Given the description of an element on the screen output the (x, y) to click on. 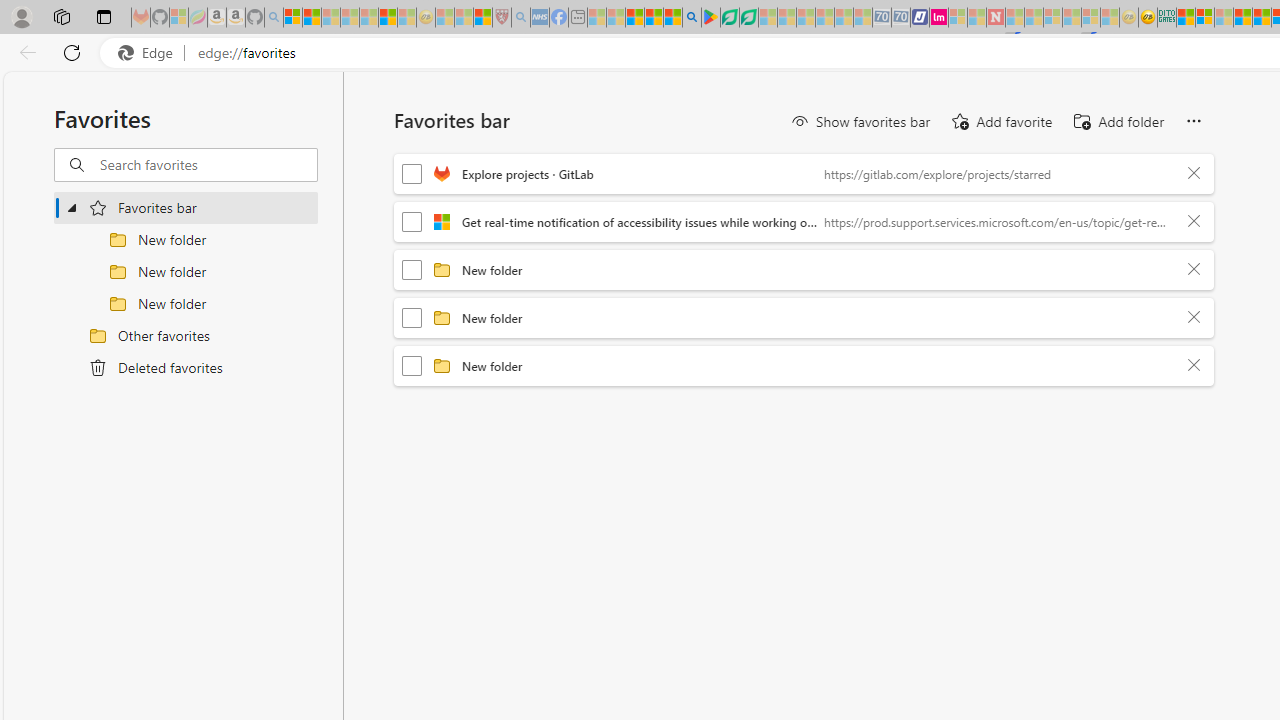
Search favorites (207, 165)
Pets - MSN (654, 17)
Microsoft account | Privacy (1204, 17)
list of asthma inhalers uk - Search - Sleeping (520, 17)
Local - MSN (482, 17)
More options (1193, 121)
Add folder (1117, 121)
MSNBC - MSN (1185, 17)
